Given the description of an element on the screen output the (x, y) to click on. 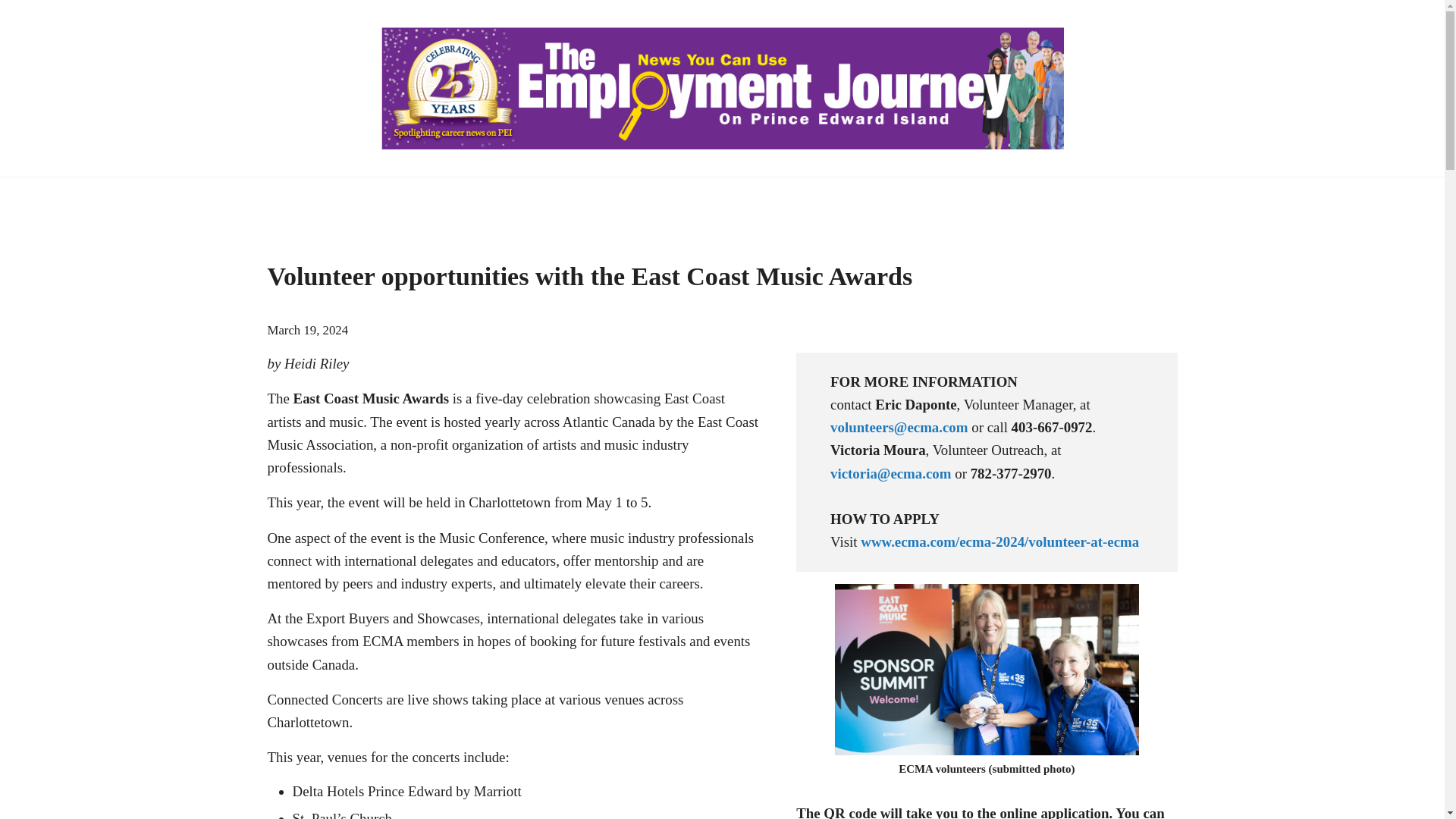
NEWSPAPERS (332, 198)
JOBS (437, 198)
